Given the description of an element on the screen output the (x, y) to click on. 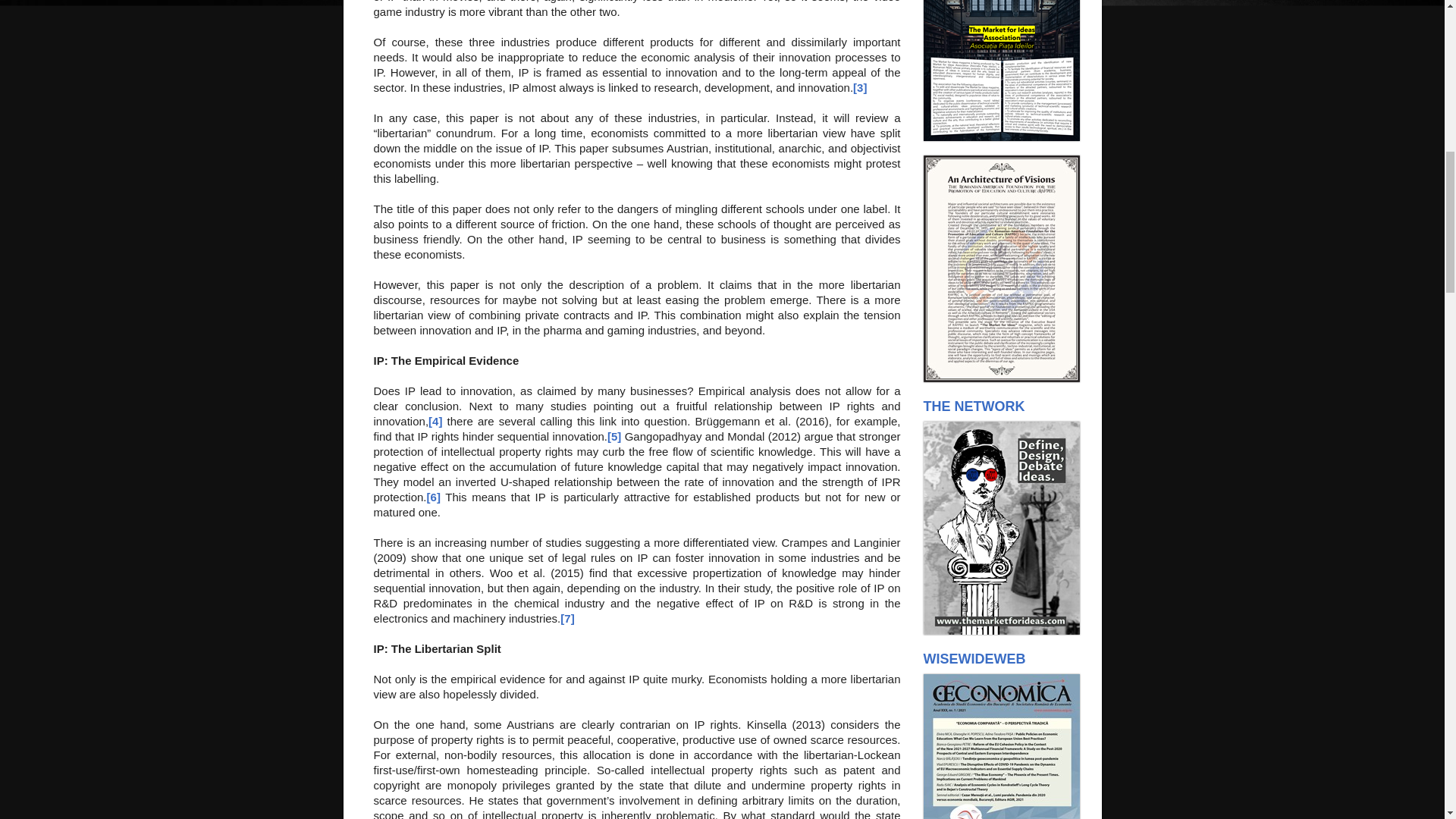
Editorial Team (1001, 630)
The Market For Ideas Association (1001, 137)
